Given the description of an element on the screen output the (x, y) to click on. 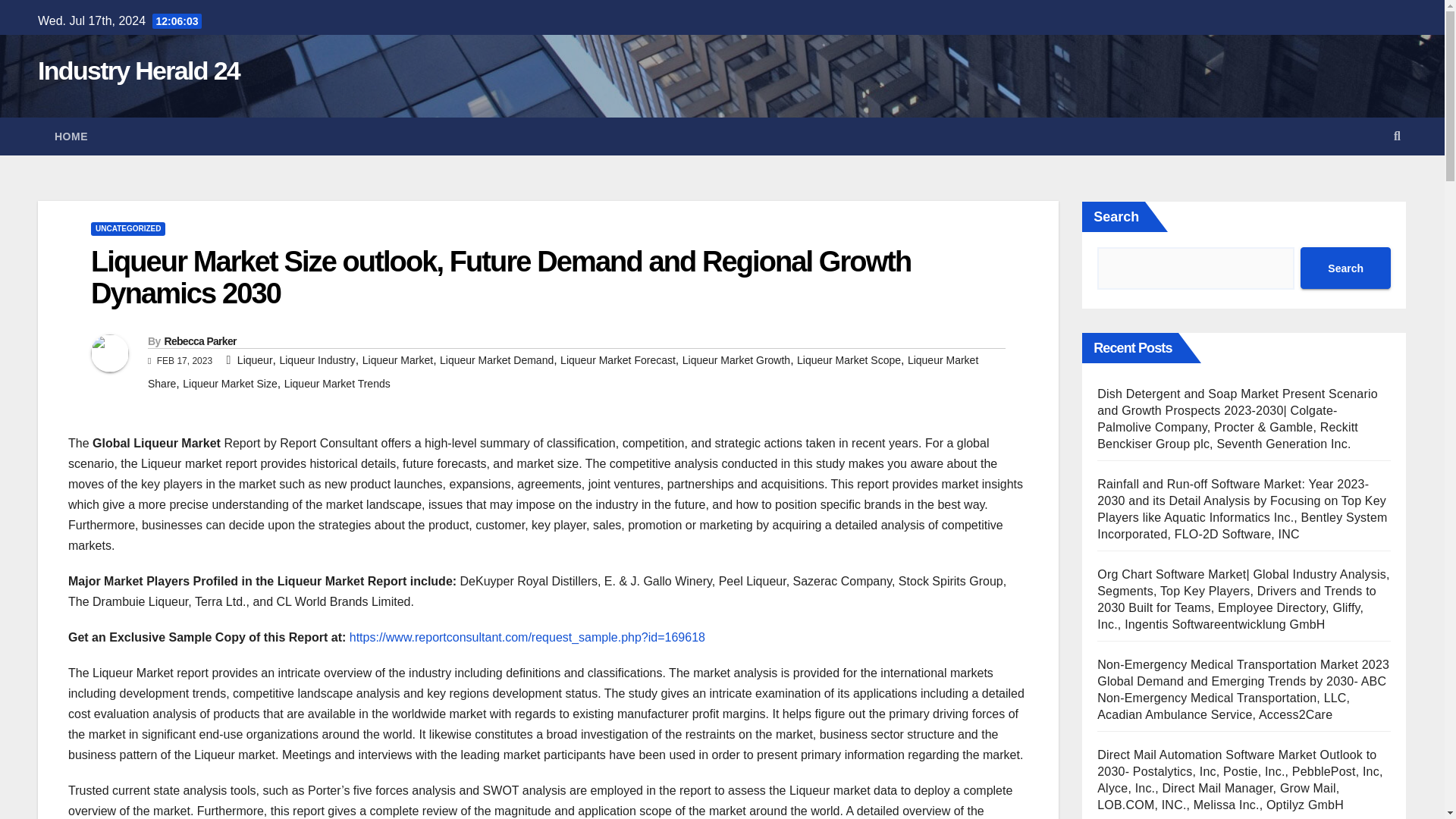
Rebecca Parker (199, 340)
Liqueur Market Demand (496, 359)
Liqueur Market Size (230, 383)
Liqueur (255, 359)
Liqueur Market Scope (848, 359)
Liqueur Market Trends (336, 383)
Home (70, 136)
HOME (70, 136)
Industry Herald 24 (138, 70)
UNCATEGORIZED (127, 228)
Liqueur Market Share (563, 371)
Liqueur Market (397, 359)
Liqueur Industry (317, 359)
Liqueur Market Forecast (617, 359)
